Given the description of an element on the screen output the (x, y) to click on. 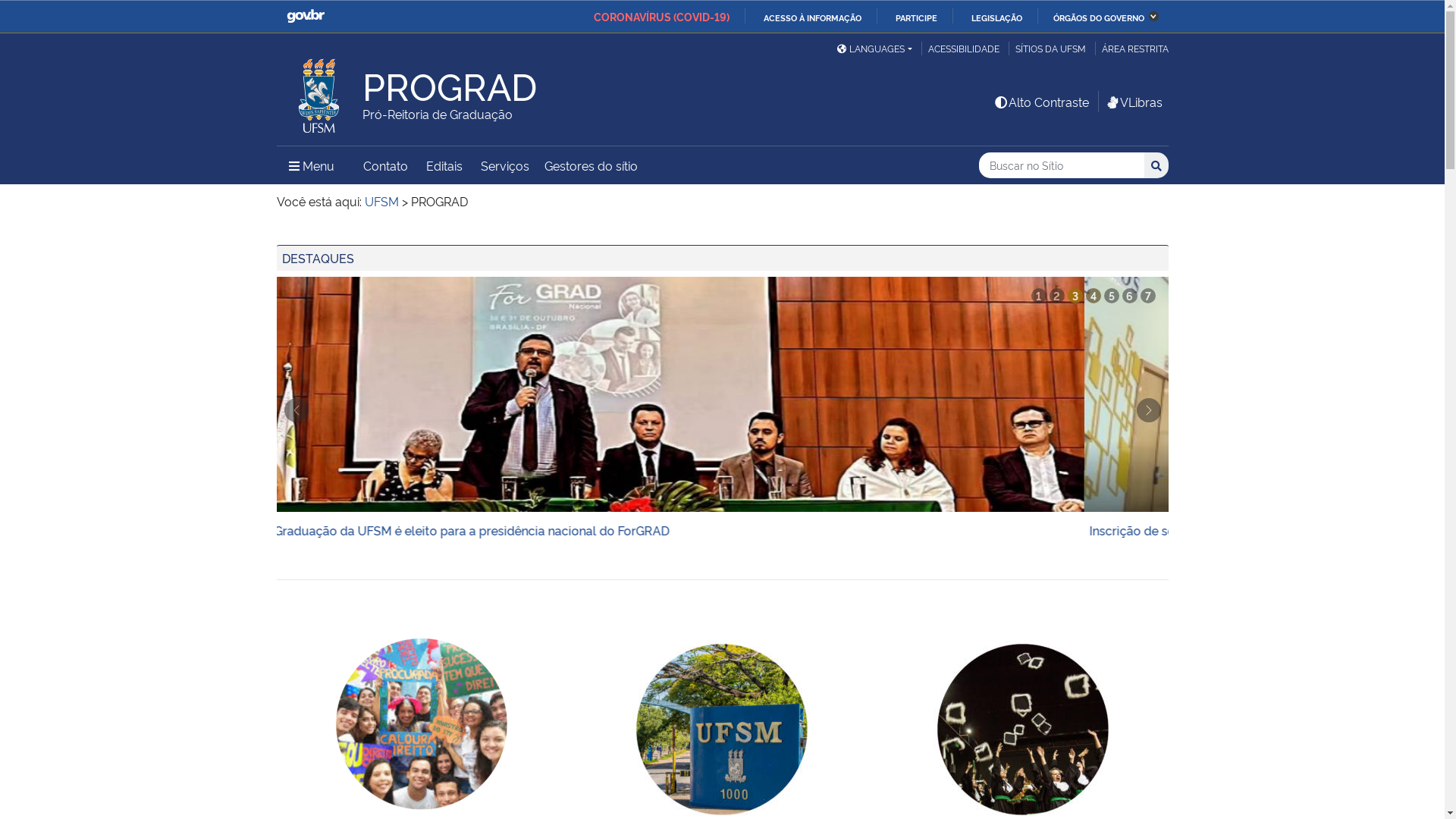
LANGUAGES Element type: text (874, 48)
Previous Element type: text (295, 410)
Buscar Element type: text (1155, 165)
Editais Element type: text (444, 165)
Next Element type: text (1147, 410)
Pesquisar por: Element type: hover (1061, 165)
Alto Contraste Element type: text (1040, 101)
Logotipo UFSM Element type: hover (319, 91)
GOVBR Element type: text (305, 16)
PARTICIPE Element type: text (909, 17)
Contato Element type: text (384, 165)
ACESSIBILIDADE Element type: text (962, 48)
UFSM Element type: text (381, 200)
VLibras Element type: text (1132, 101)
